Given the description of an element on the screen output the (x, y) to click on. 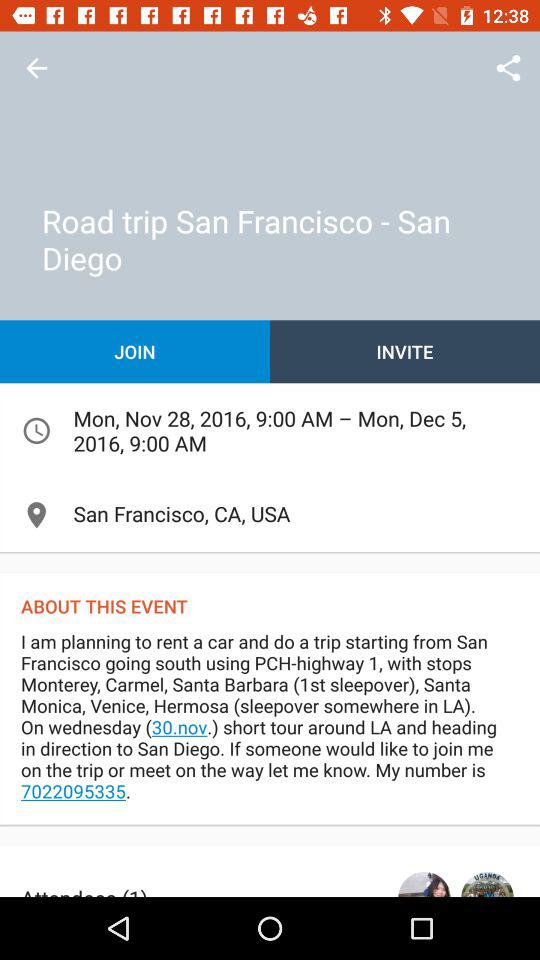
choose icon above the mon nov 28 (405, 351)
